Given the description of an element on the screen output the (x, y) to click on. 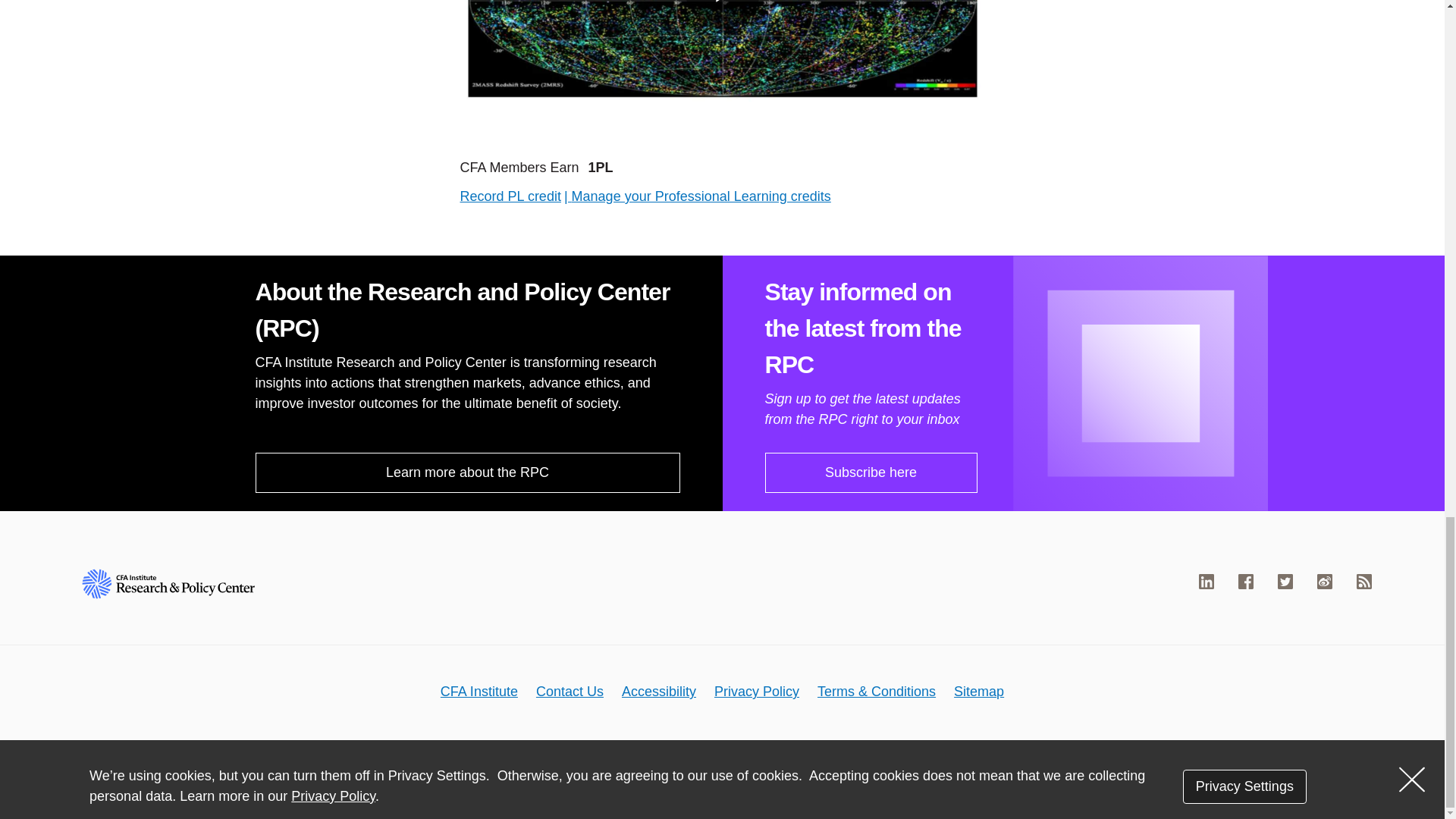
Play Video (722, 14)
